Given the description of an element on the screen output the (x, y) to click on. 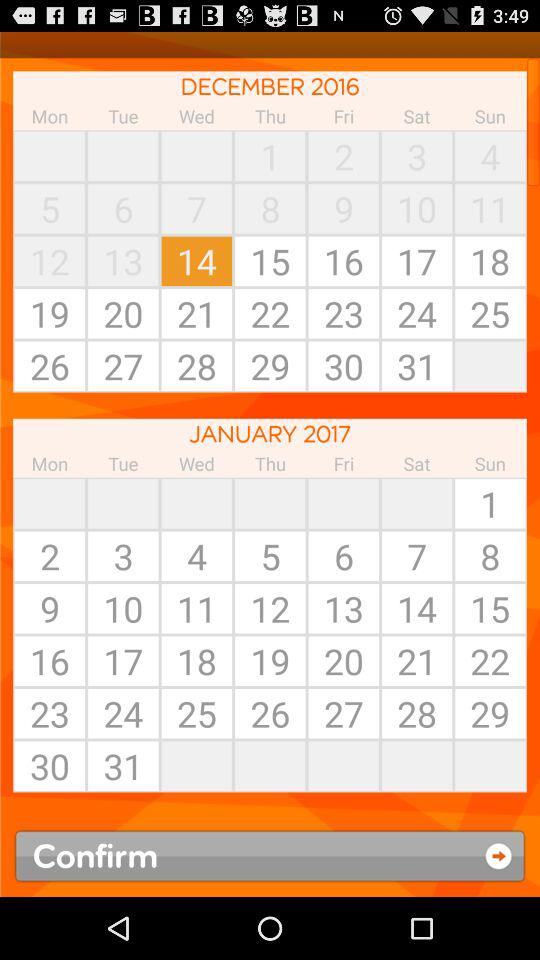
launch item to the left of the fri item (270, 503)
